Given the description of an element on the screen output the (x, y) to click on. 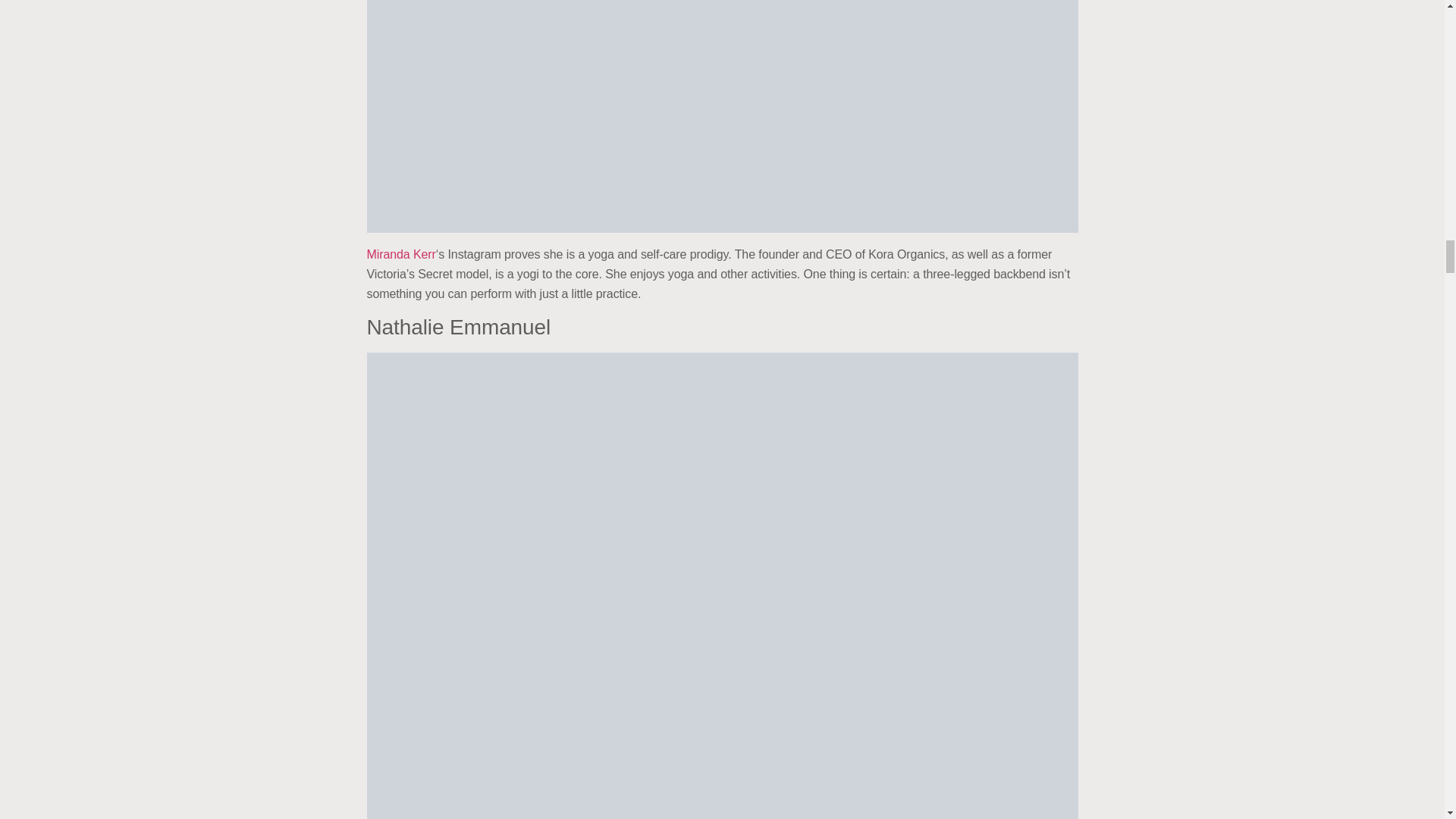
Miranda Kerr (400, 254)
